Given the description of an element on the screen output the (x, y) to click on. 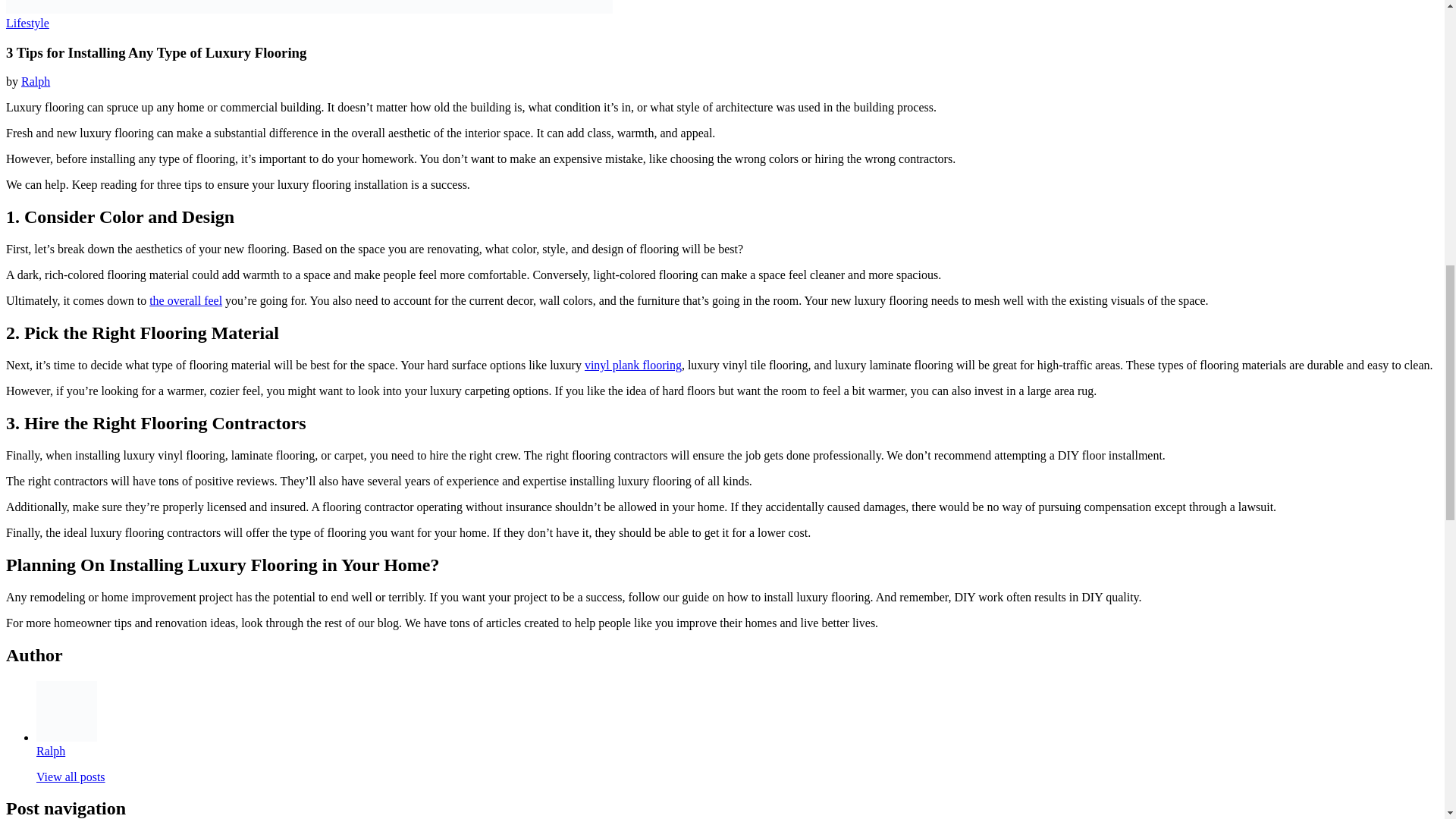
Ralph (50, 750)
Ralph (35, 81)
Ralph (50, 750)
the overall feel (185, 300)
vinyl plank flooring (633, 364)
View all posts (70, 776)
Lifestyle (27, 22)
Ralph (35, 81)
View all posts (70, 776)
